Given the description of an element on the screen output the (x, y) to click on. 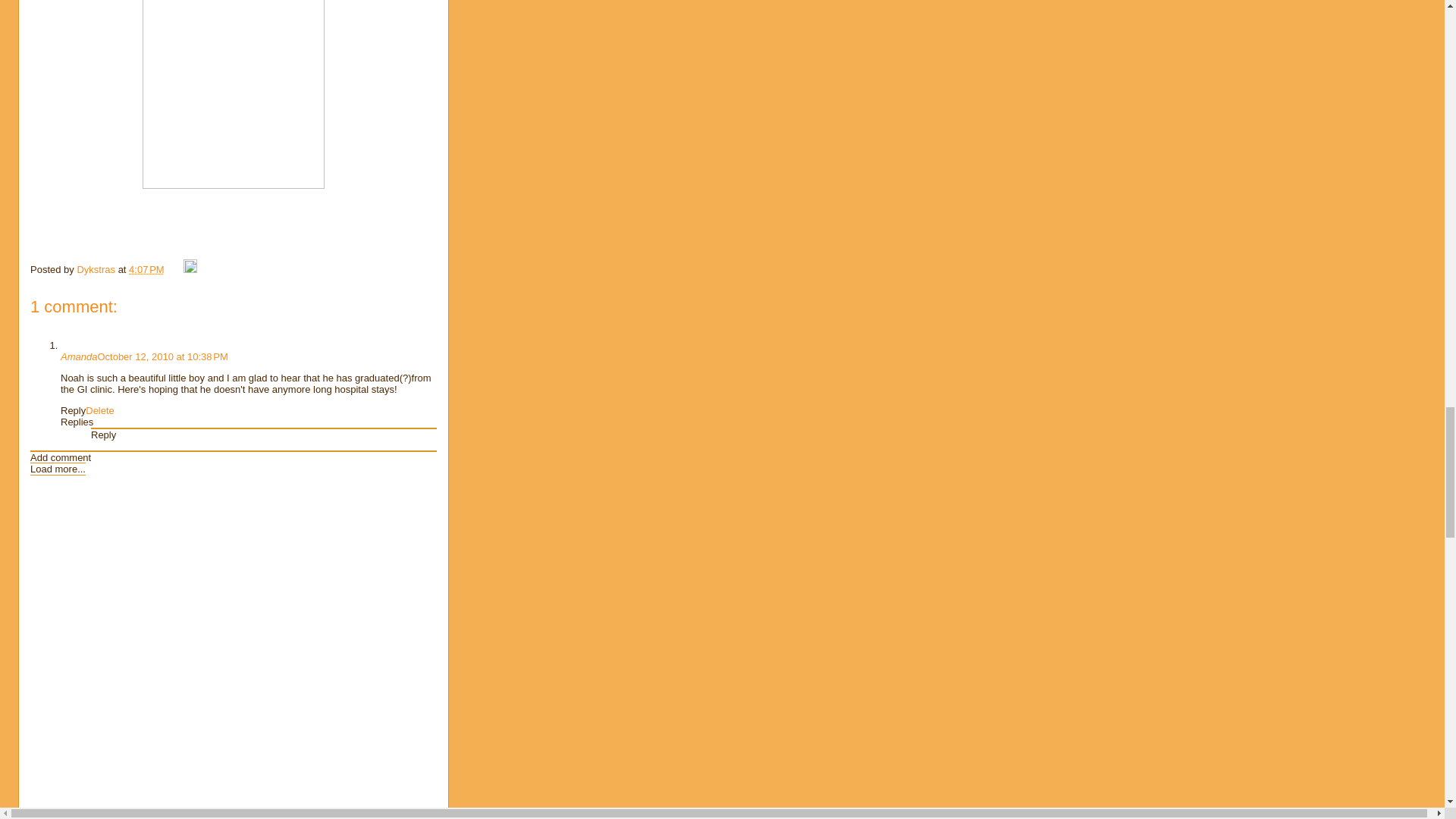
Add comment (60, 457)
Dykstras (97, 269)
Amanda (79, 356)
Reply (73, 410)
Edit Post (189, 269)
Reply (103, 434)
Load more... (57, 468)
permanent link (146, 269)
author profile (97, 269)
Email Post (175, 269)
Delete (100, 410)
Replies (77, 421)
